Given the description of an element on the screen output the (x, y) to click on. 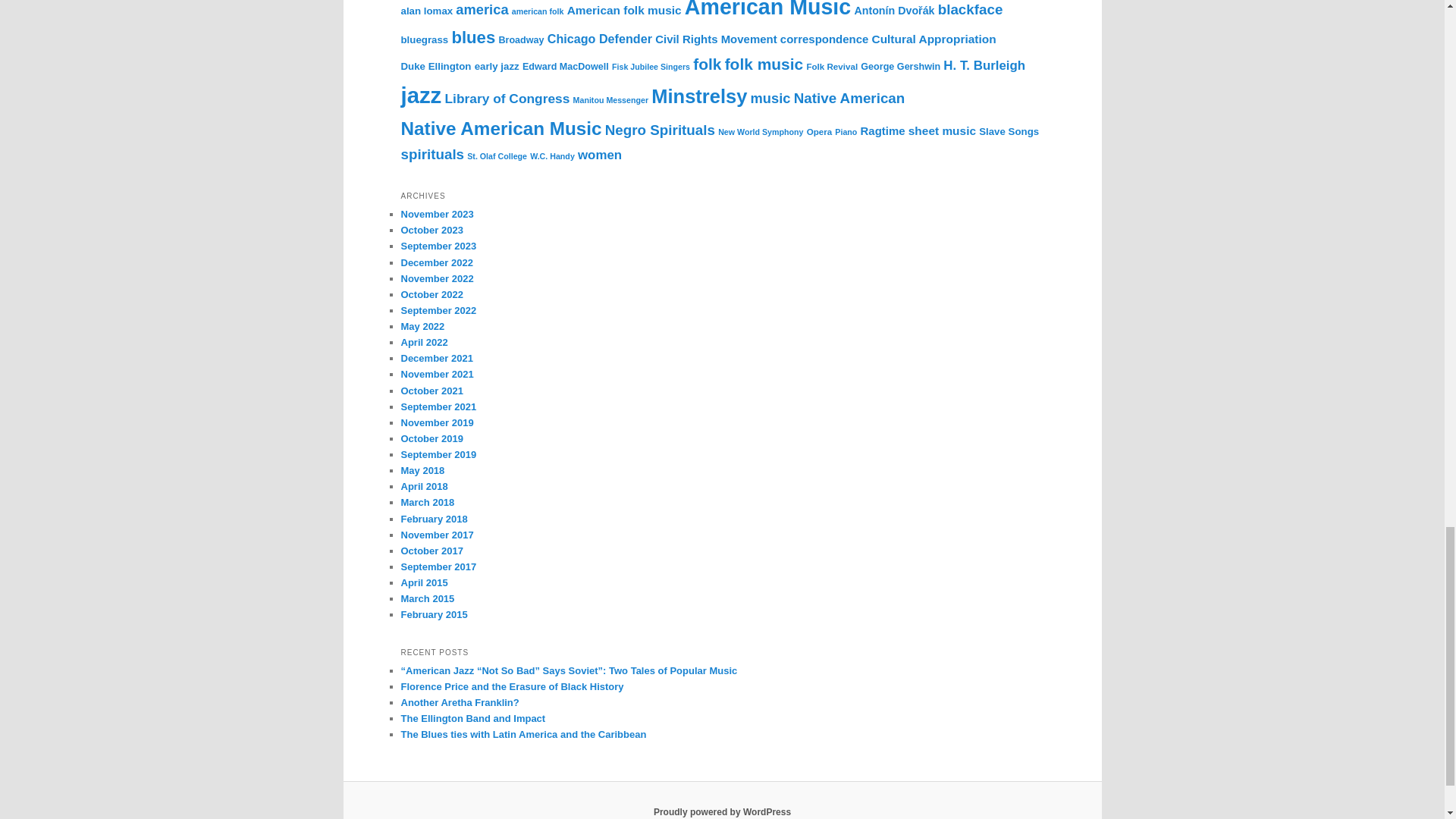
American Music (767, 9)
American folk music (624, 10)
blues (473, 36)
Chicago Defender (599, 38)
folk (706, 63)
Broadway (520, 40)
Duke Ellington (435, 66)
folk music (764, 63)
Civil Rights Movement (716, 38)
Edward MacDowell (565, 66)
